Given the description of an element on the screen output the (x, y) to click on. 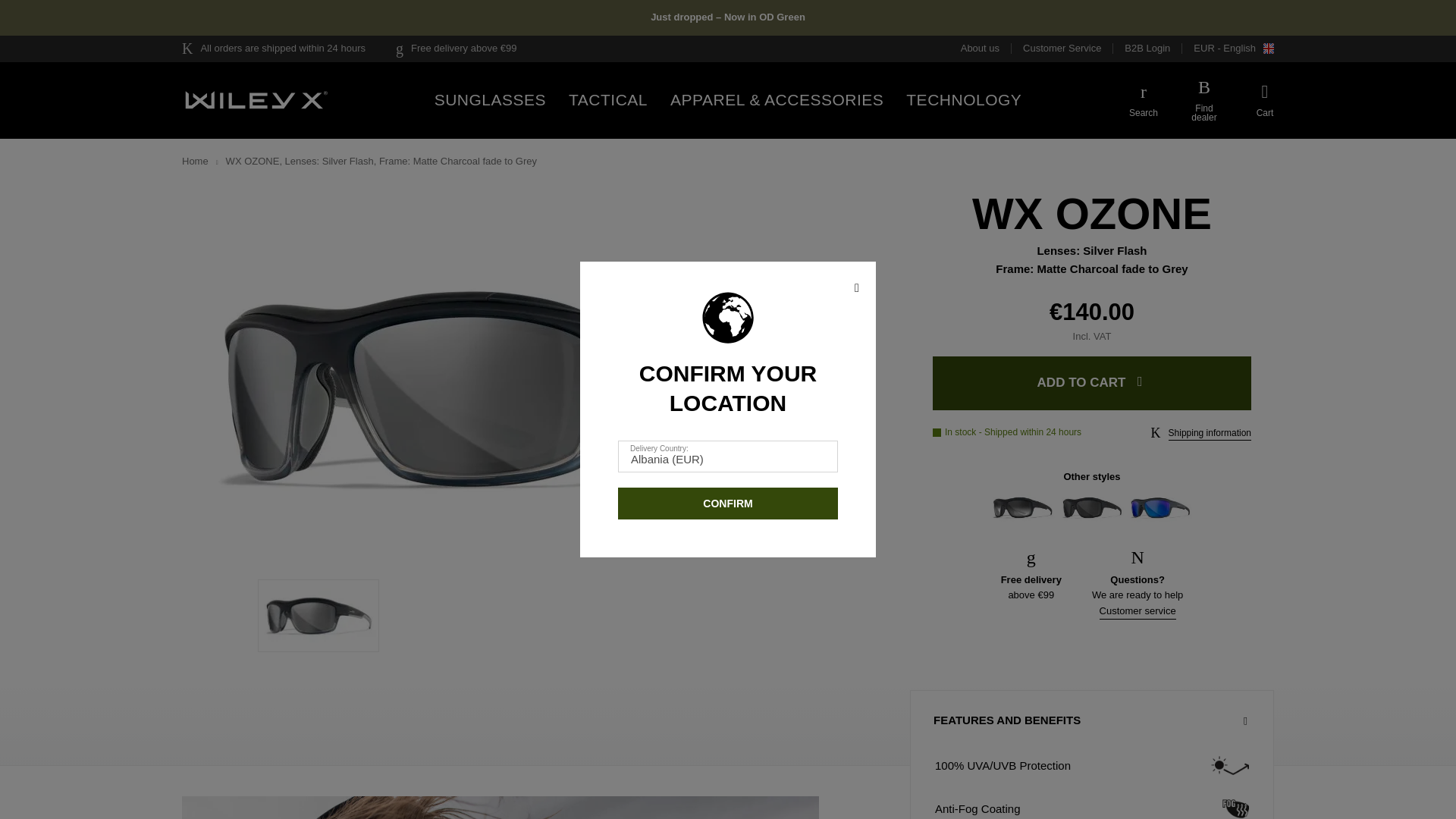
Add to Cart (1091, 383)
Go to Home Page (200, 161)
Availability (1007, 432)
Close search-drawer (1265, 100)
Customer Service (1068, 48)
SUNGLASSES (490, 100)
B2B Login (1153, 48)
TACTICAL (608, 100)
About us (985, 48)
